Given the description of an element on the screen output the (x, y) to click on. 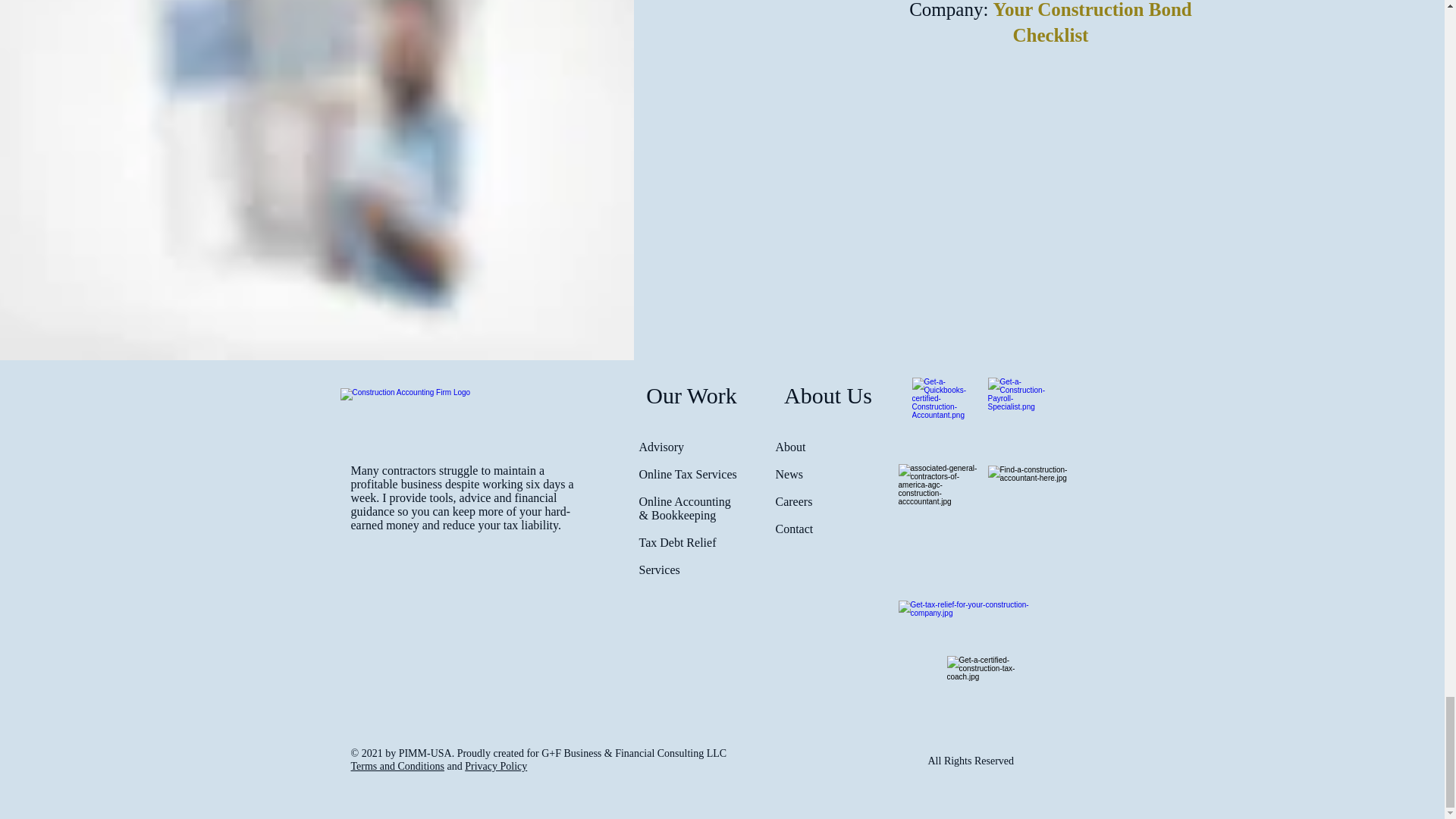
Tax Debt Relief (677, 542)
Online Tax Services (687, 473)
Terms and Conditions (397, 766)
Services (659, 569)
Careers (793, 501)
Contact (793, 528)
About (789, 446)
News (788, 473)
Advisory (661, 446)
Privacy Policy (495, 766)
